Given the description of an element on the screen output the (x, y) to click on. 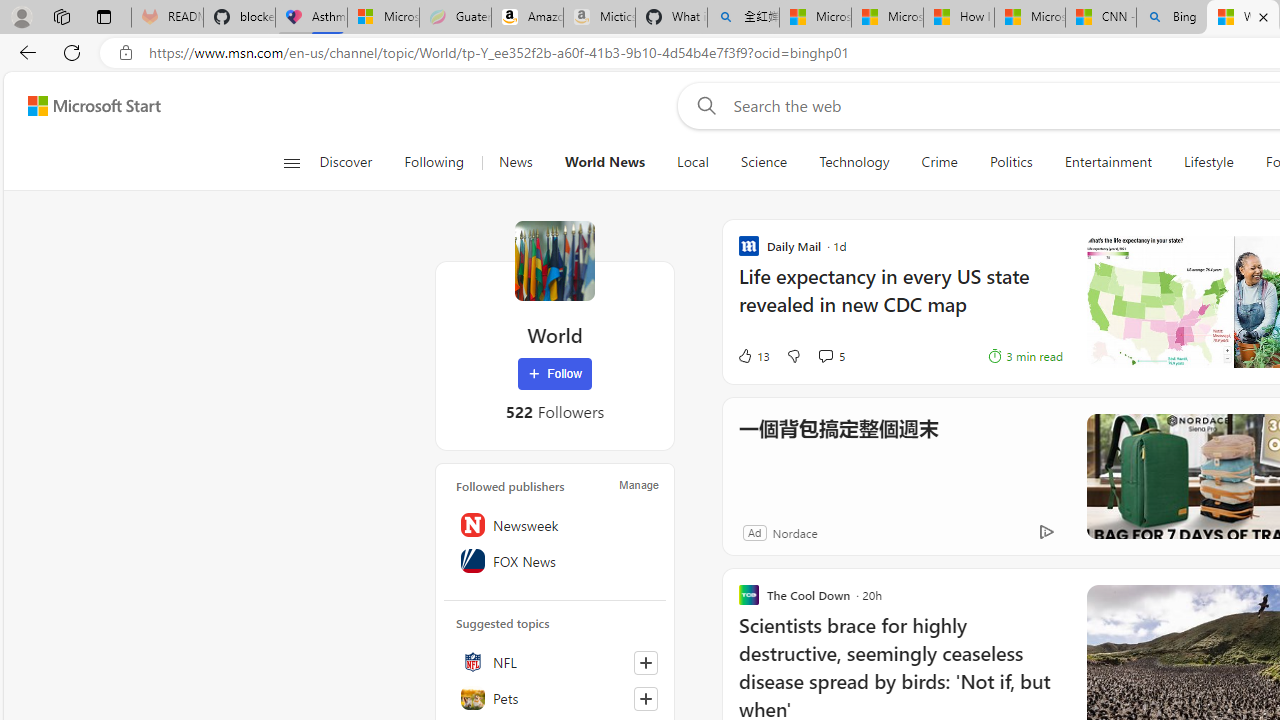
Asthma Inhalers: Names and Types (311, 17)
Entertainment (1107, 162)
Newsweek (555, 525)
Pets (555, 697)
Open navigation menu (291, 162)
View comments 5 Comment (825, 355)
View comments 5 Comment (830, 355)
